Given the description of an element on the screen output the (x, y) to click on. 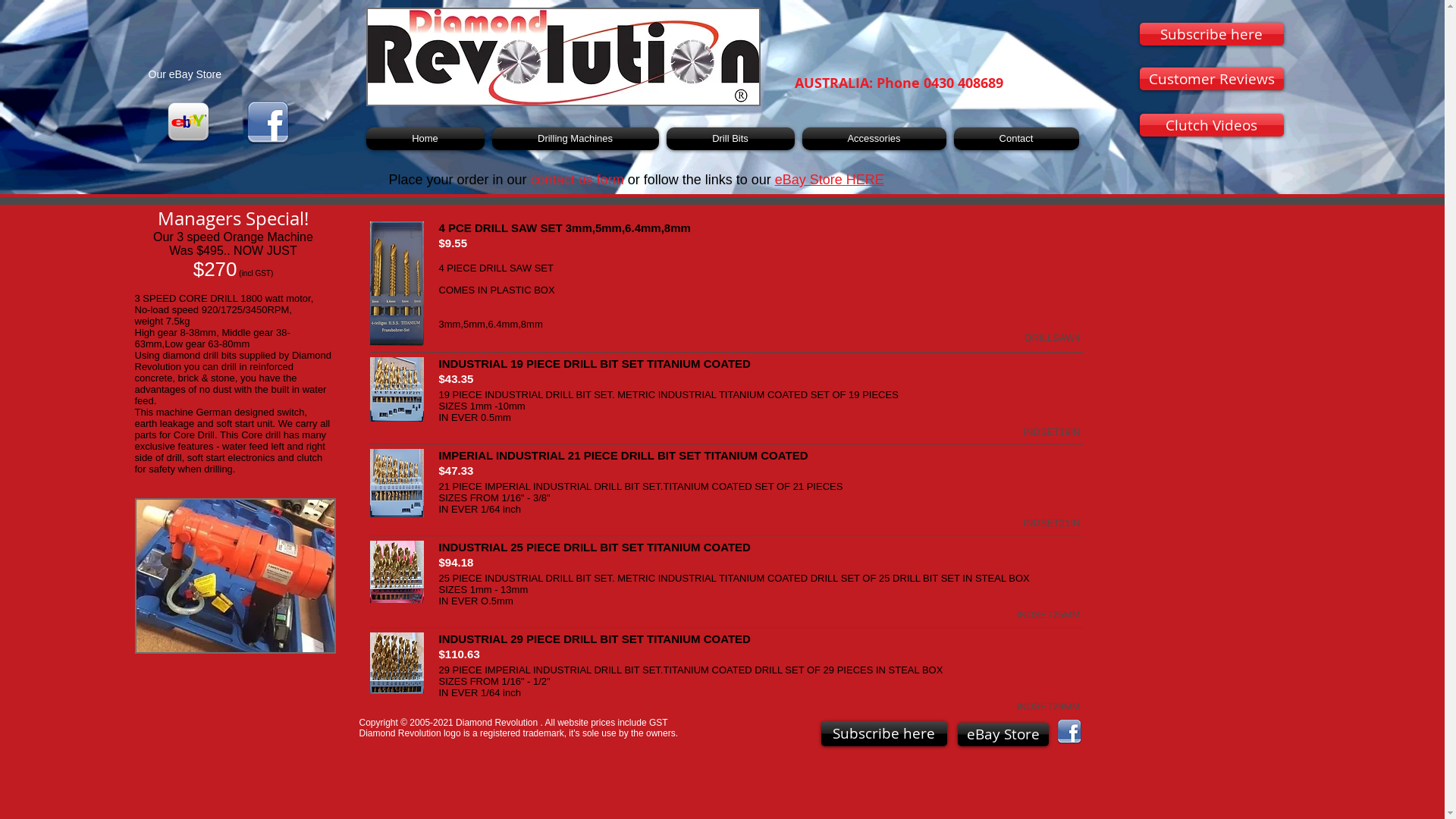
eBay Store Element type: text (1002, 734)
385-Diamond Revolution Logo registered.jpg Element type: hover (562, 56)
Facebook Like Element type: hover (1210, 231)
Clutch Videos Element type: text (1211, 124)
INDSET19MM Element type: hover (396, 389)
Drilling Machines Element type: text (575, 138)
contact us form Element type: text (577, 179)
Subscribe here Element type: text (883, 733)
Accessories Element type: text (873, 138)
Subscribe here Element type: text (1211, 33)
Customer Reviews Element type: text (1211, 78)
eBay Store HERE Element type: text (829, 179)
INDSET25MM Element type: hover (396, 571)
Contact Element type: text (1013, 138)
DRILLSAW4 Element type: hover (396, 283)
DRE03-110 Element type: hover (234, 575)
Drill Bits Element type: text (730, 138)
INDSET29IN Element type: hover (396, 662)
INDSET21IN Element type: hover (396, 482)
Home Element type: text (426, 138)
